Given the description of an element on the screen output the (x, y) to click on. 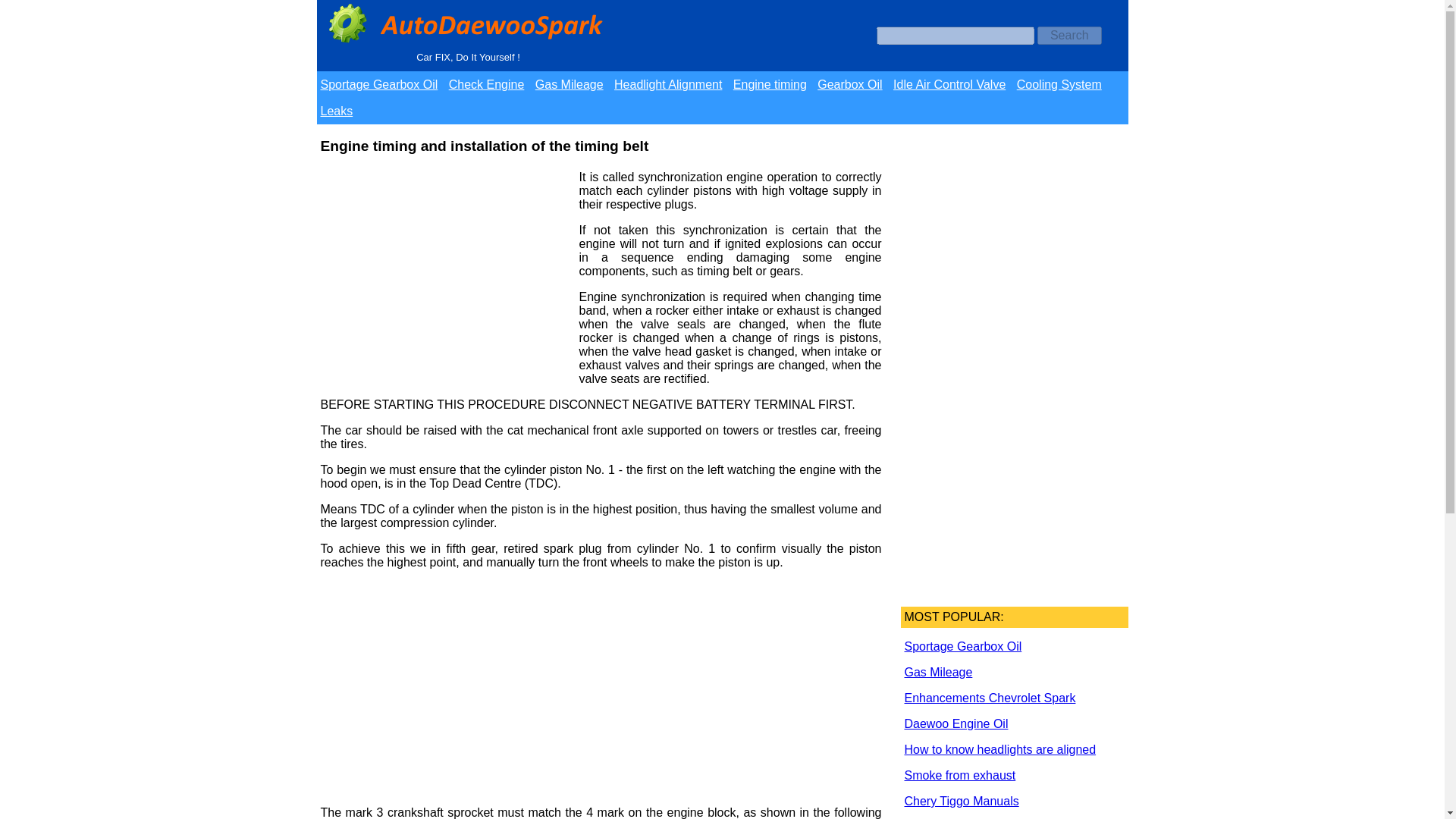
Gas Mileage (573, 83)
Advertisement (444, 274)
Check Engine (490, 83)
Sportage Gearbox Oil (382, 83)
Headlight Alignment (671, 83)
